Given the description of an element on the screen output the (x, y) to click on. 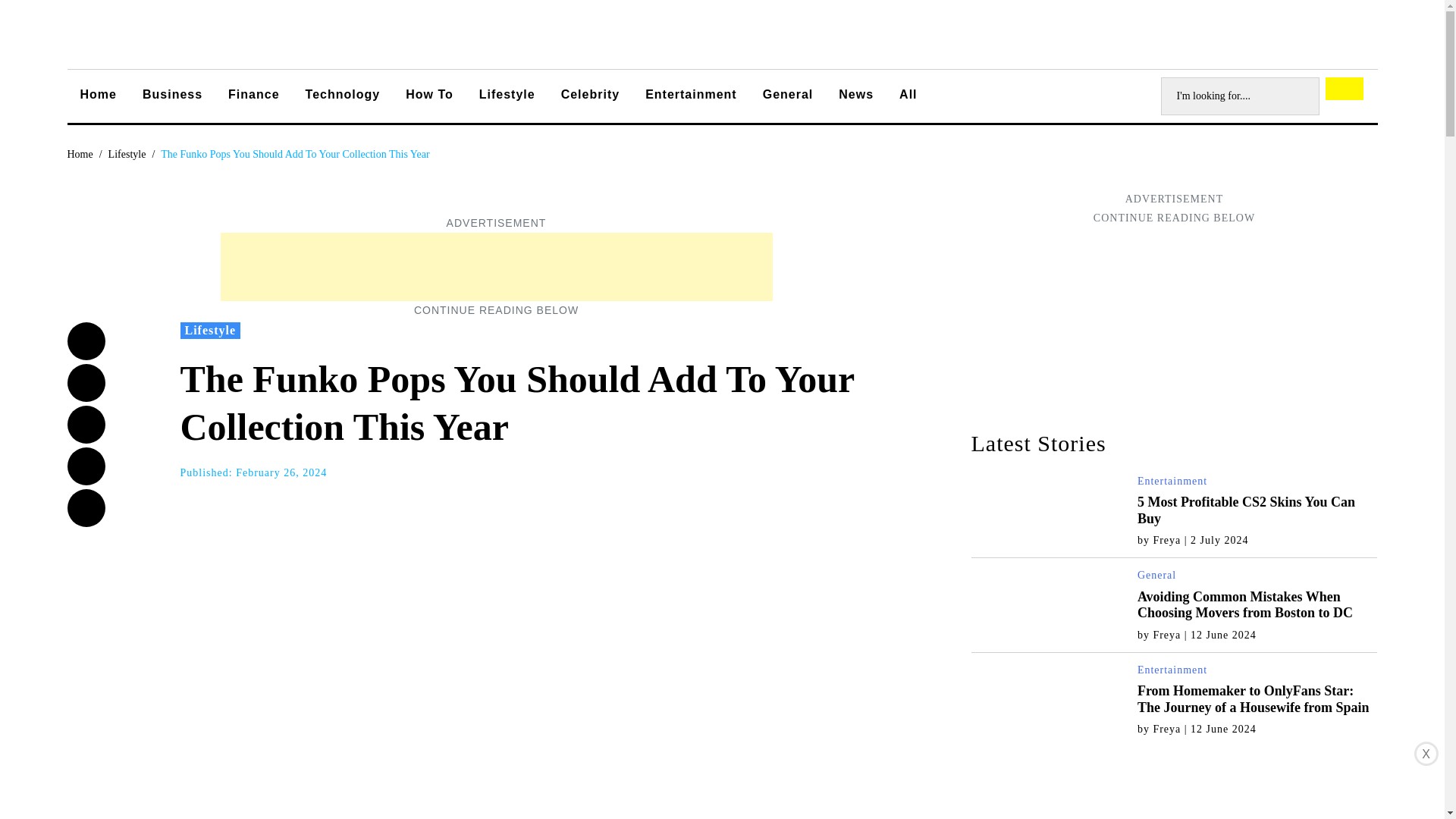
Finance (253, 96)
Share on Twitter (85, 382)
Facebook (85, 341)
Share on LinkedIn (85, 466)
Celebrity (589, 96)
Home (97, 96)
Technology (342, 96)
Search for: (1239, 95)
Lifestyle (506, 96)
Lifestyle (210, 330)
Share on Facebook (85, 341)
Lifestyle (127, 153)
Lifestyle (127, 153)
Pinterest (85, 507)
